Given the description of an element on the screen output the (x, y) to click on. 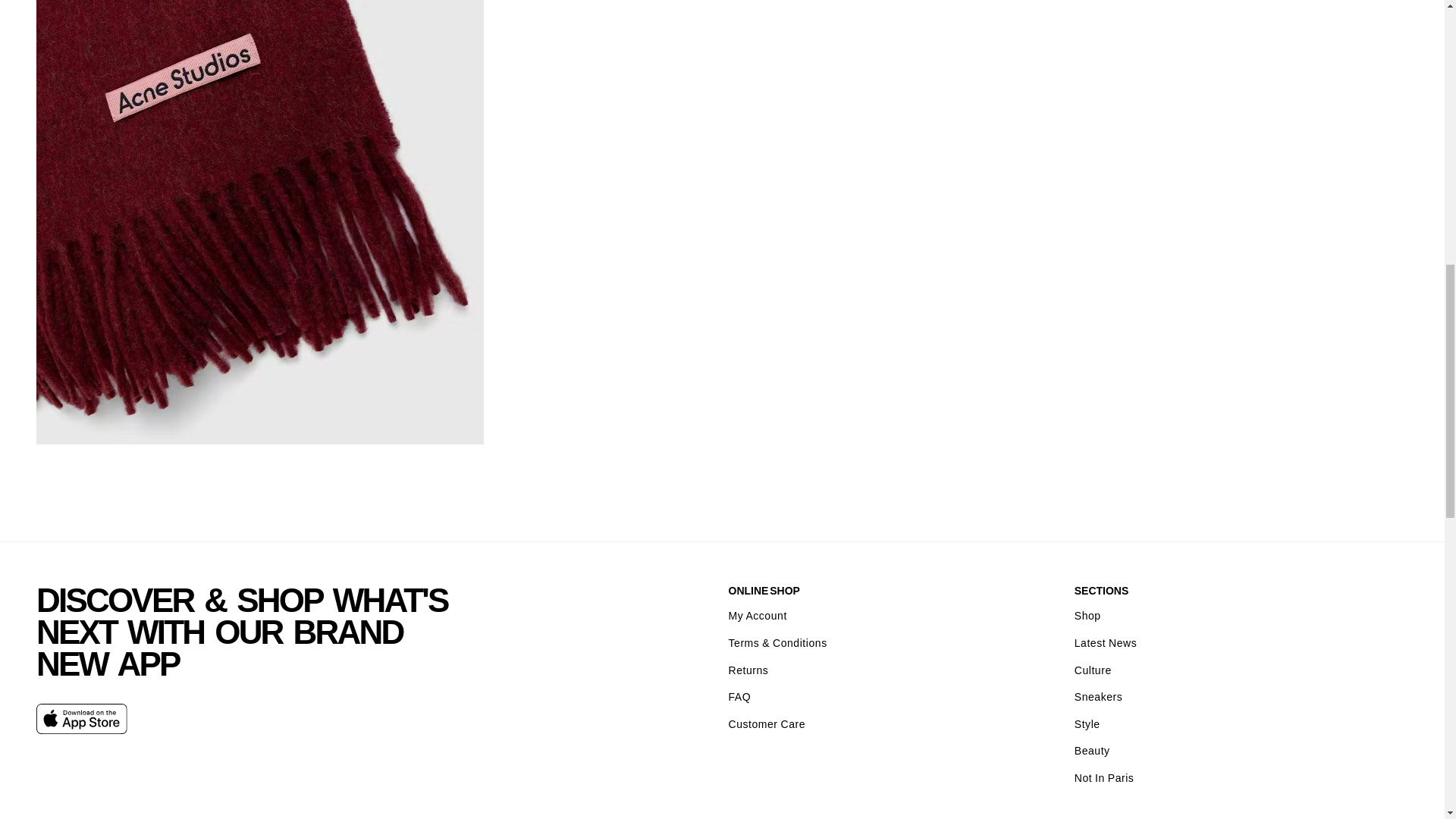
Shop (1087, 616)
Culture (1093, 670)
Style (1087, 724)
Sneakers (1098, 697)
Not In Paris (1104, 778)
Beauty (1091, 750)
Customer Care (766, 724)
My Account (757, 616)
Latest News (1105, 643)
FAQ (739, 697)
Returns (748, 670)
